Given the description of an element on the screen output the (x, y) to click on. 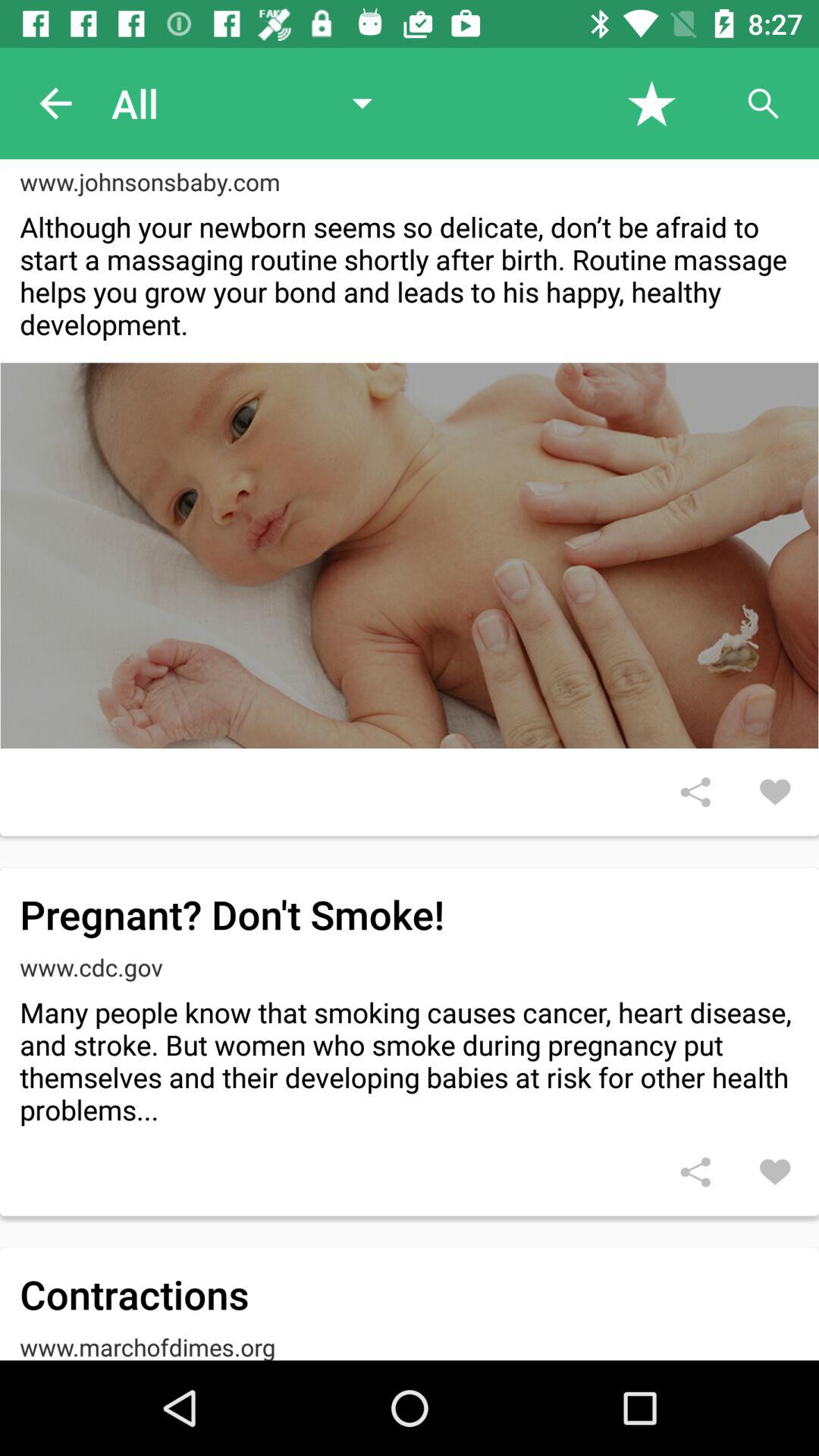
save page as favorite (651, 103)
